Given the description of an element on the screen output the (x, y) to click on. 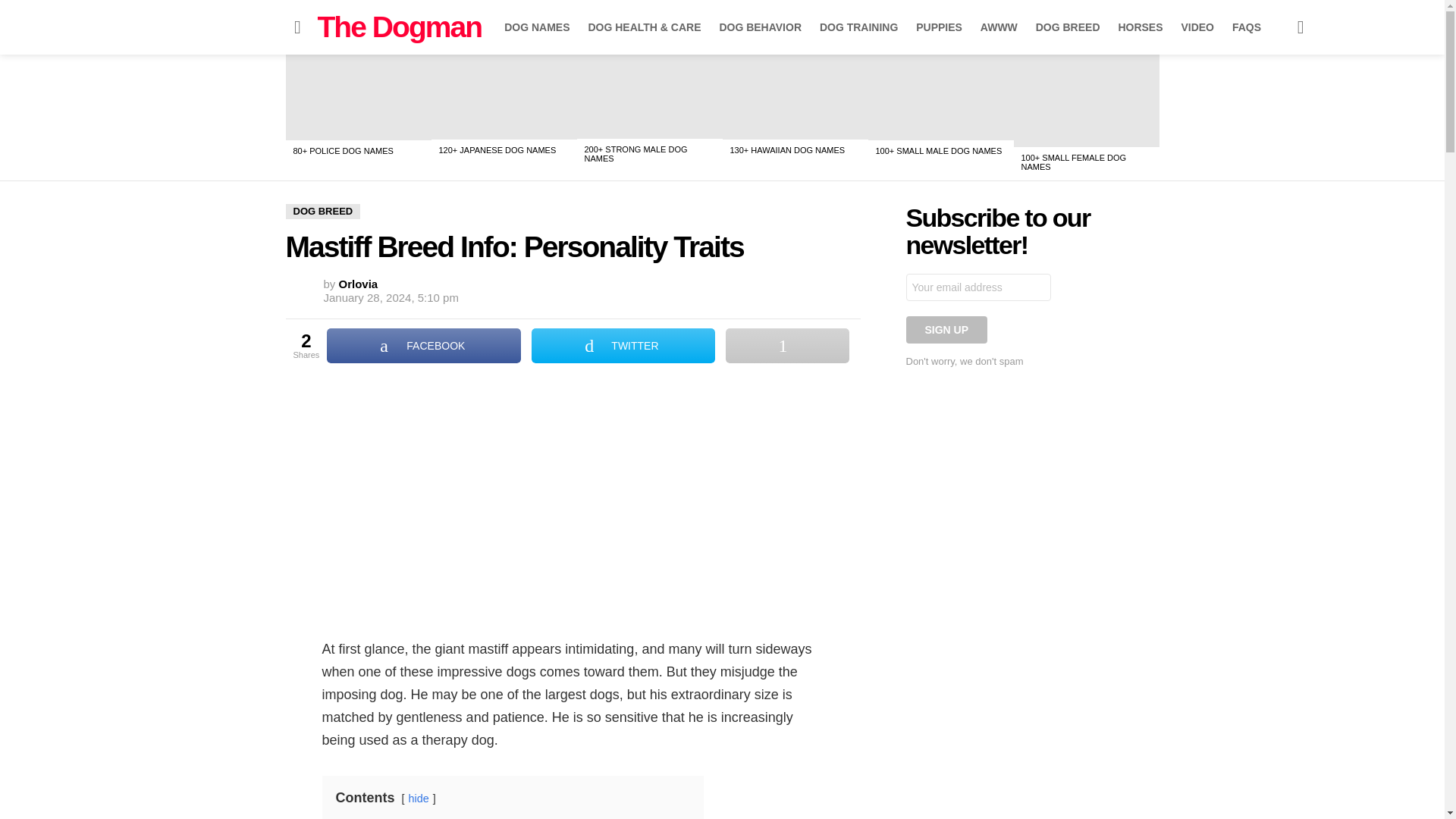
Share on Twitter (622, 345)
DOG BEHAVIOR (760, 26)
Sign up (946, 329)
TWITTER (622, 345)
DOG BREED (1067, 26)
Share on Facebook (423, 345)
The Dogman (399, 26)
HORSES (1139, 26)
DOG TRAINING (858, 26)
FAQS (1246, 26)
FACEBOOK (423, 345)
Menu (296, 27)
Posts by Orlovia (358, 283)
DOG NAMES (536, 26)
Share on More Button (787, 345)
